Given the description of an element on the screen output the (x, y) to click on. 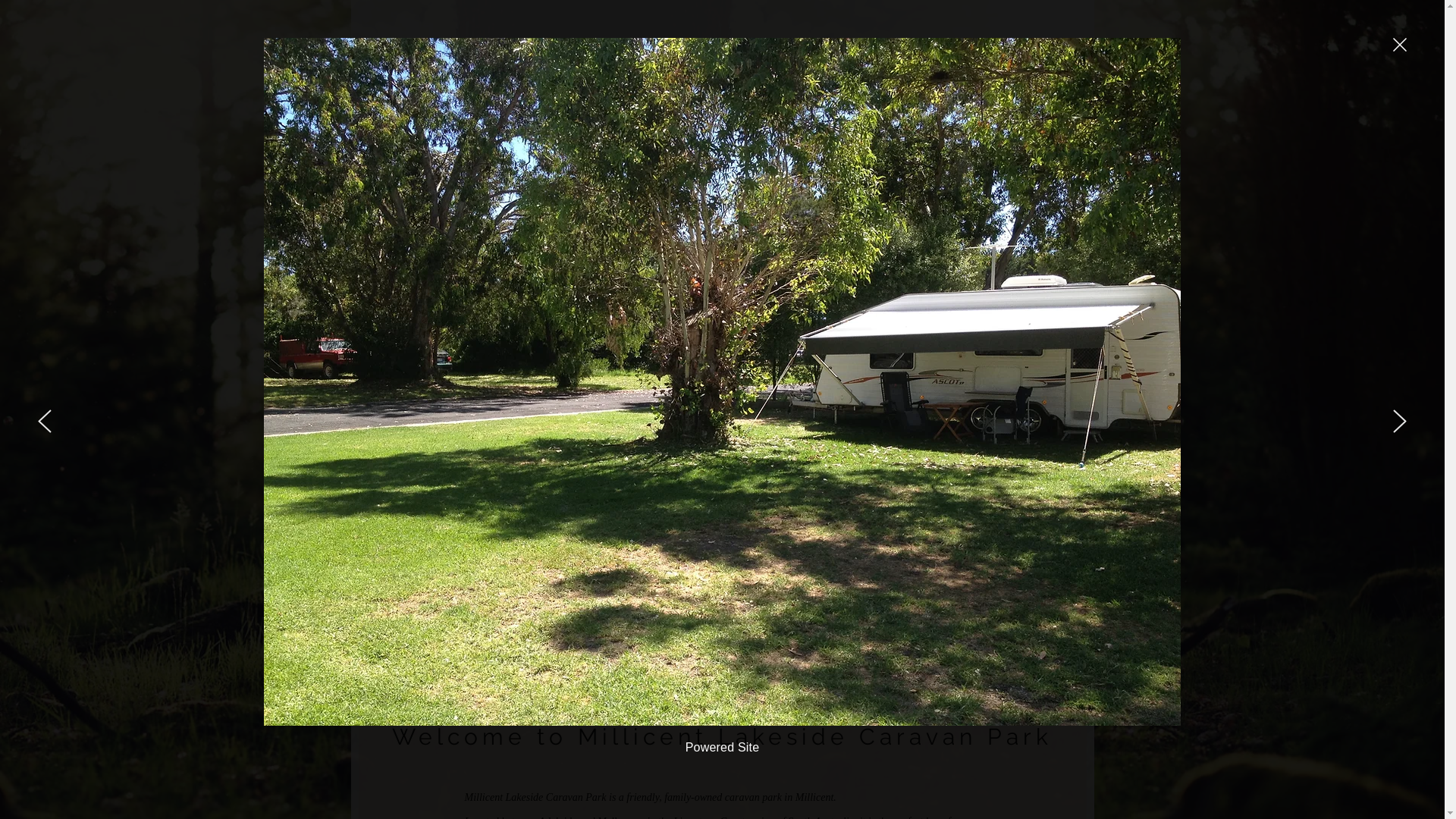
ACCOMMODATION Element type: text (820, 226)
CONTACT US Element type: text (992, 226)
BOOK NOW Element type: text (1024, 70)
ABOUT US Element type: text (728, 226)
Logo Clear Raleway.png Element type: hover (466, 98)
ACTIVITIES Element type: text (911, 226)
Find us on Facebook Element type: text (1025, 121)
HOME Element type: text (664, 226)
Embedded Content Element type: hover (761, 107)
Embedded Content Element type: hover (634, 107)
